Given the description of an element on the screen output the (x, y) to click on. 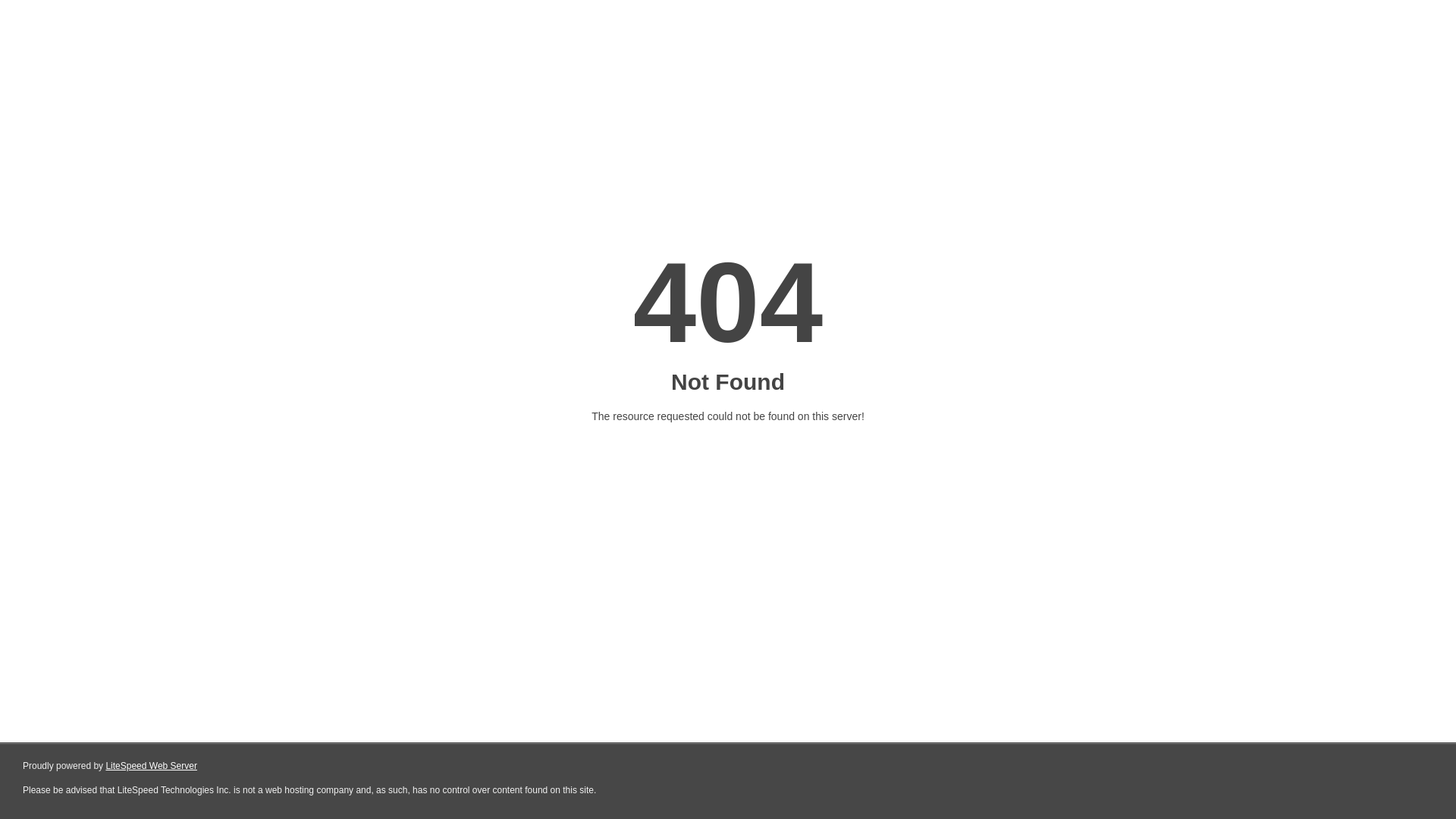
LiteSpeed Web Server Element type: text (151, 765)
